Given the description of an element on the screen output the (x, y) to click on. 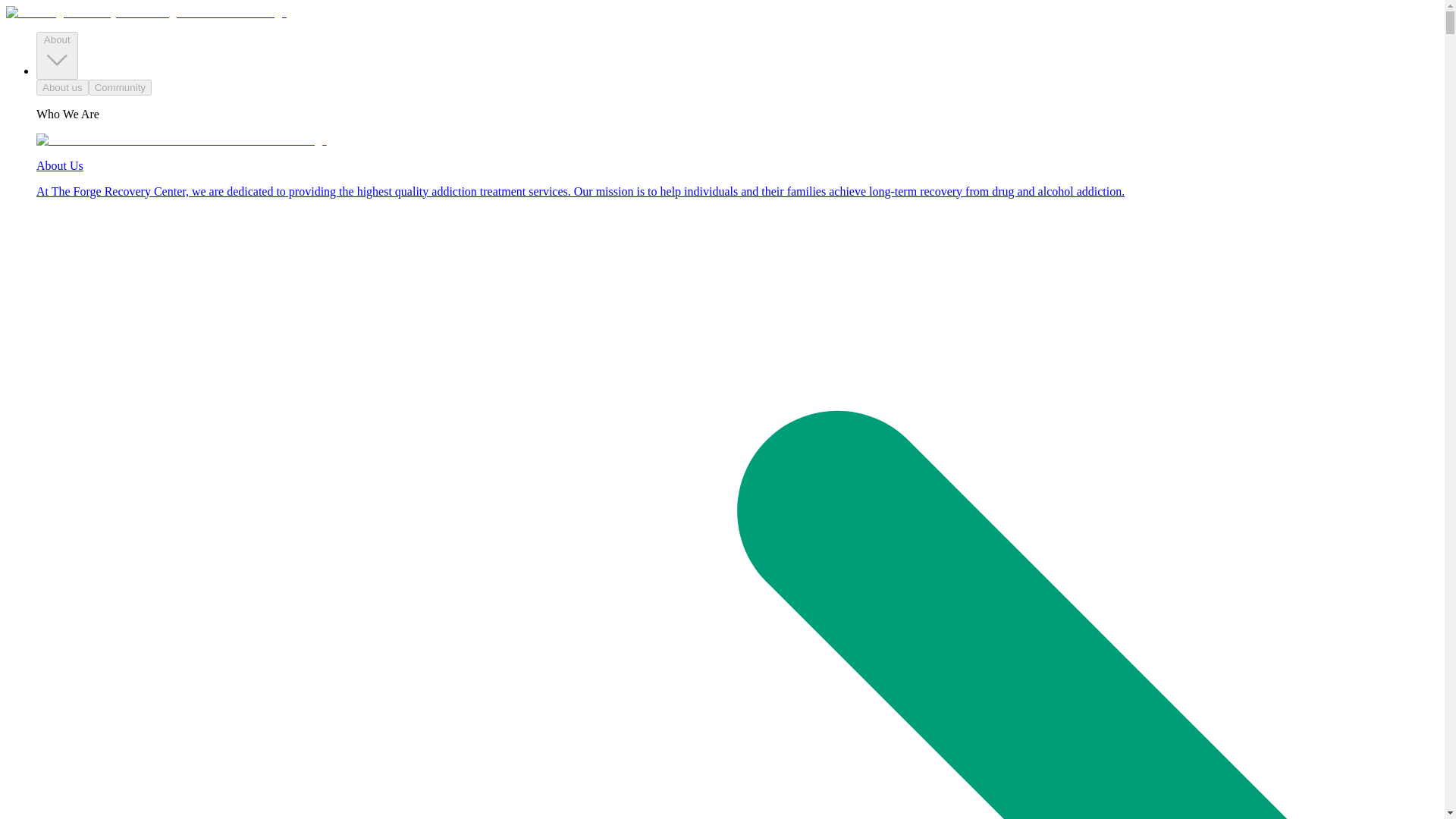
Community (119, 87)
About us (62, 87)
About (57, 55)
